Given the description of an element on the screen output the (x, y) to click on. 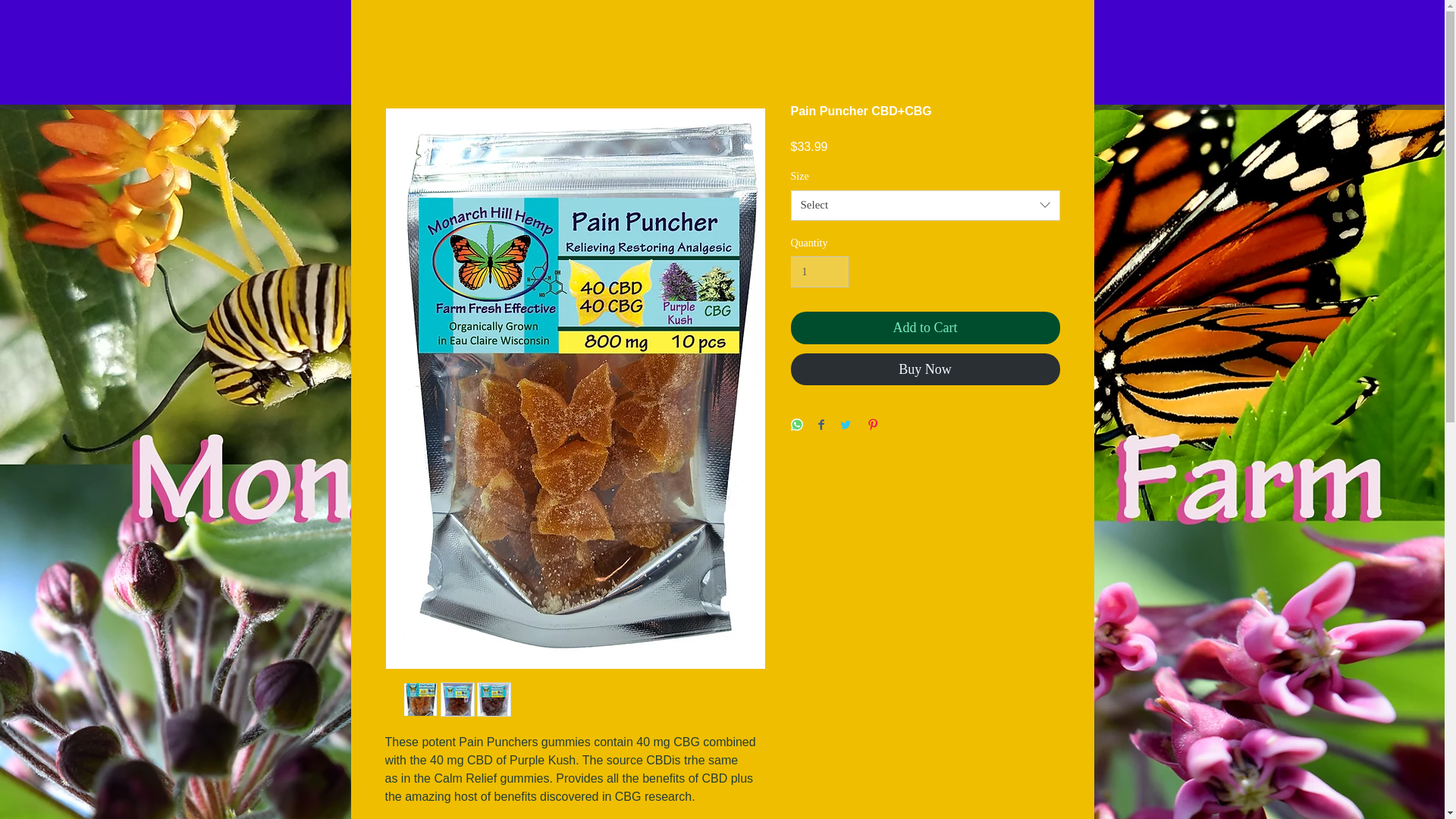
Home (382, 81)
Select (924, 205)
About Us (961, 81)
Log In (1048, 23)
Add to Cart (924, 327)
Flower Buds (579, 81)
Gift Card (1038, 81)
Oils (439, 81)
Buy Now (924, 368)
Edibles (500, 81)
